Given the description of an element on the screen output the (x, y) to click on. 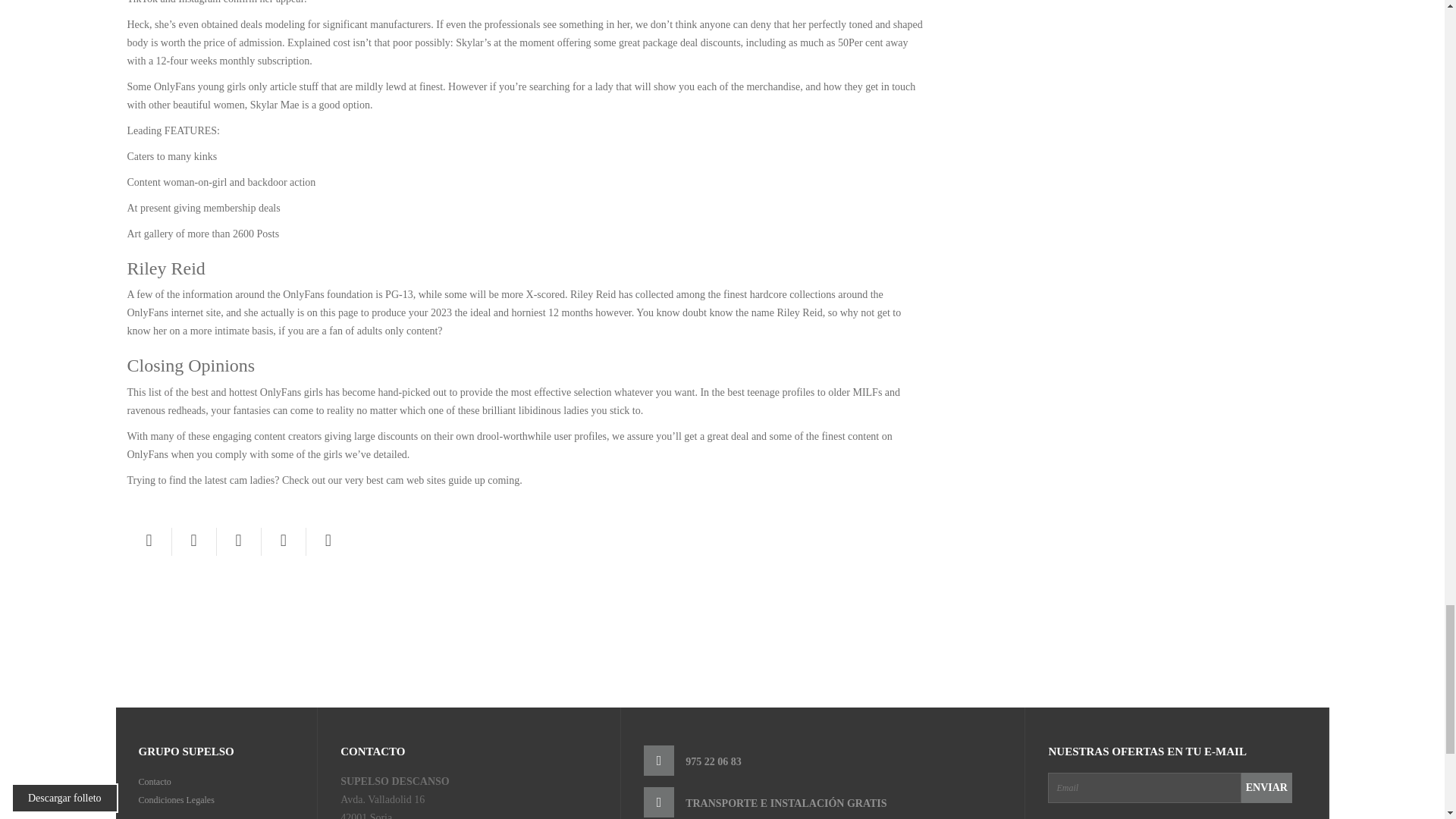
Enviar (1266, 788)
Facebook (149, 540)
Condiciones Legales (176, 799)
Contacto (154, 781)
LinkedIn (327, 540)
Twitter (193, 540)
Enviar (1266, 788)
Pinterest (238, 540)
